Given the description of an element on the screen output the (x, y) to click on. 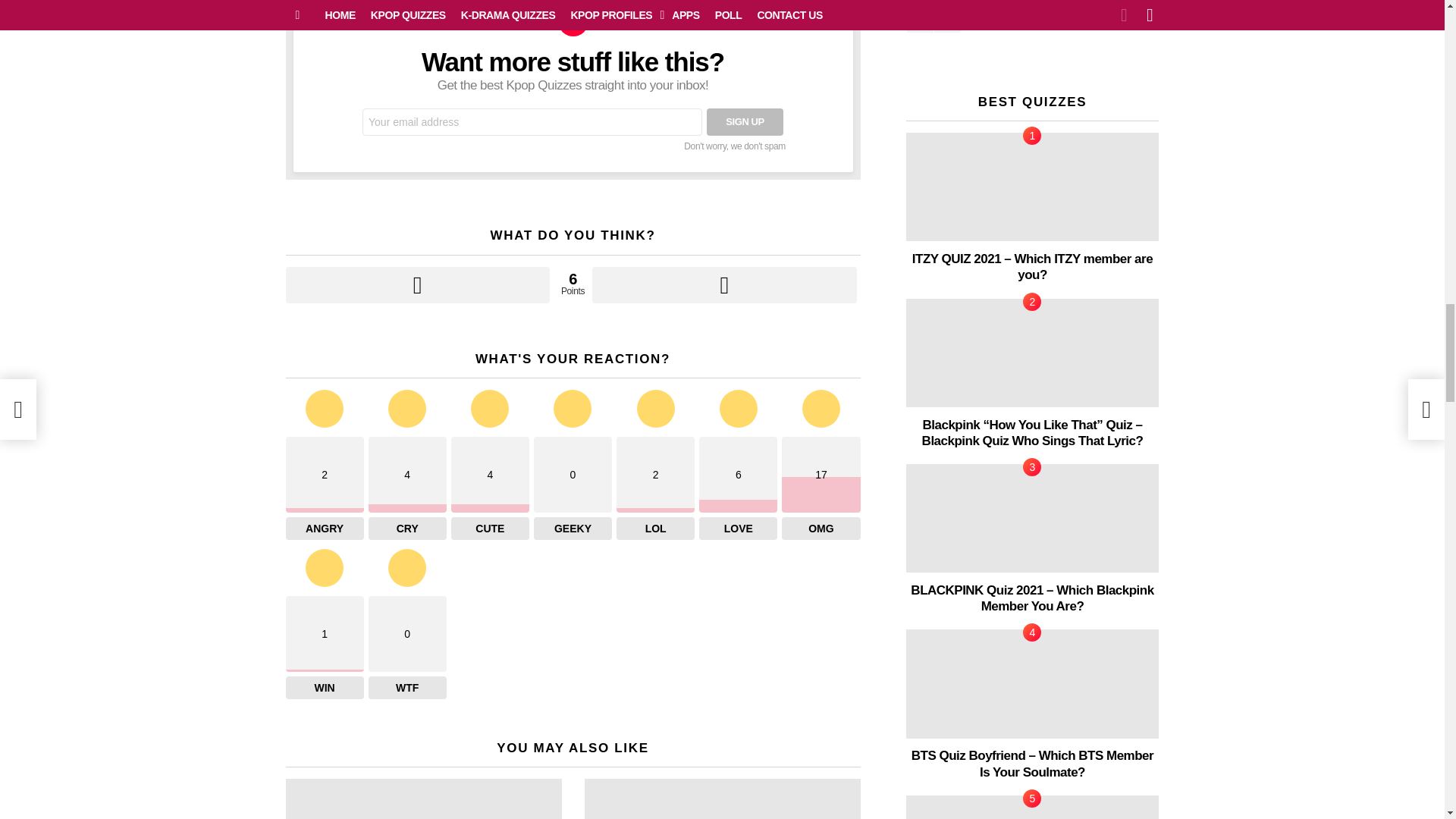
Sign up (744, 121)
